Given the description of an element on the screen output the (x, y) to click on. 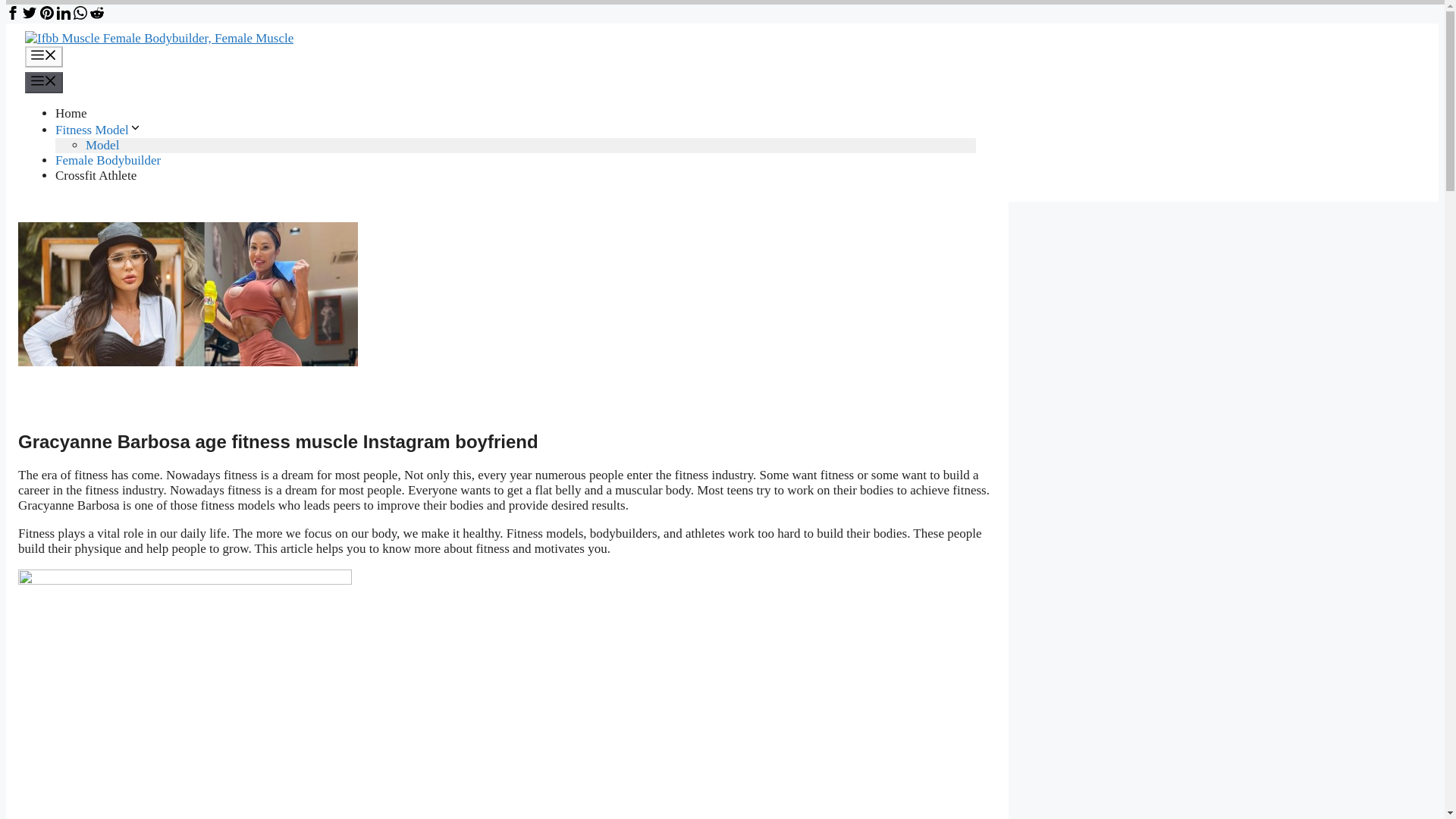
Female Bodybuilder (107, 160)
Menu (43, 82)
Home (71, 113)
Menu (43, 56)
Gracyanne Barbosa age fitness muscle Instagram boyfriend 1 (187, 316)
Gracyanne Barbosa age fitness muscle Instagram boyfriend 2 (184, 694)
Fitness Model (98, 129)
Crossfit Athlete (95, 175)
Model (102, 145)
